Given the description of an element on the screen output the (x, y) to click on. 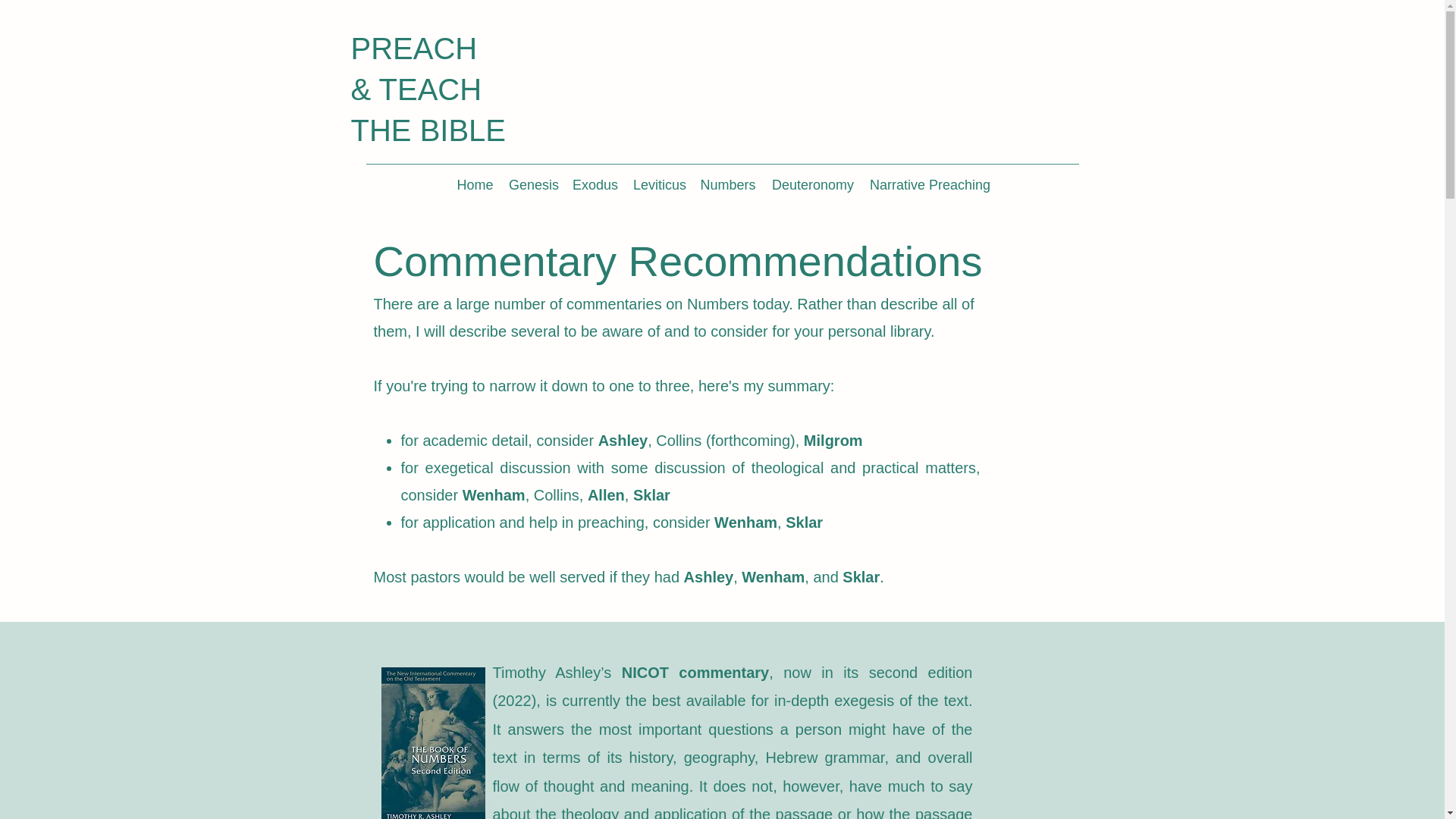
Milgrom (833, 440)
Narrative Preaching (928, 183)
Ashley (708, 576)
Exodus (595, 183)
Wenham (773, 576)
Allen (606, 494)
Sklar (861, 576)
Home (474, 183)
Deuteronomy (811, 183)
Ashley (622, 440)
